Given the description of an element on the screen output the (x, y) to click on. 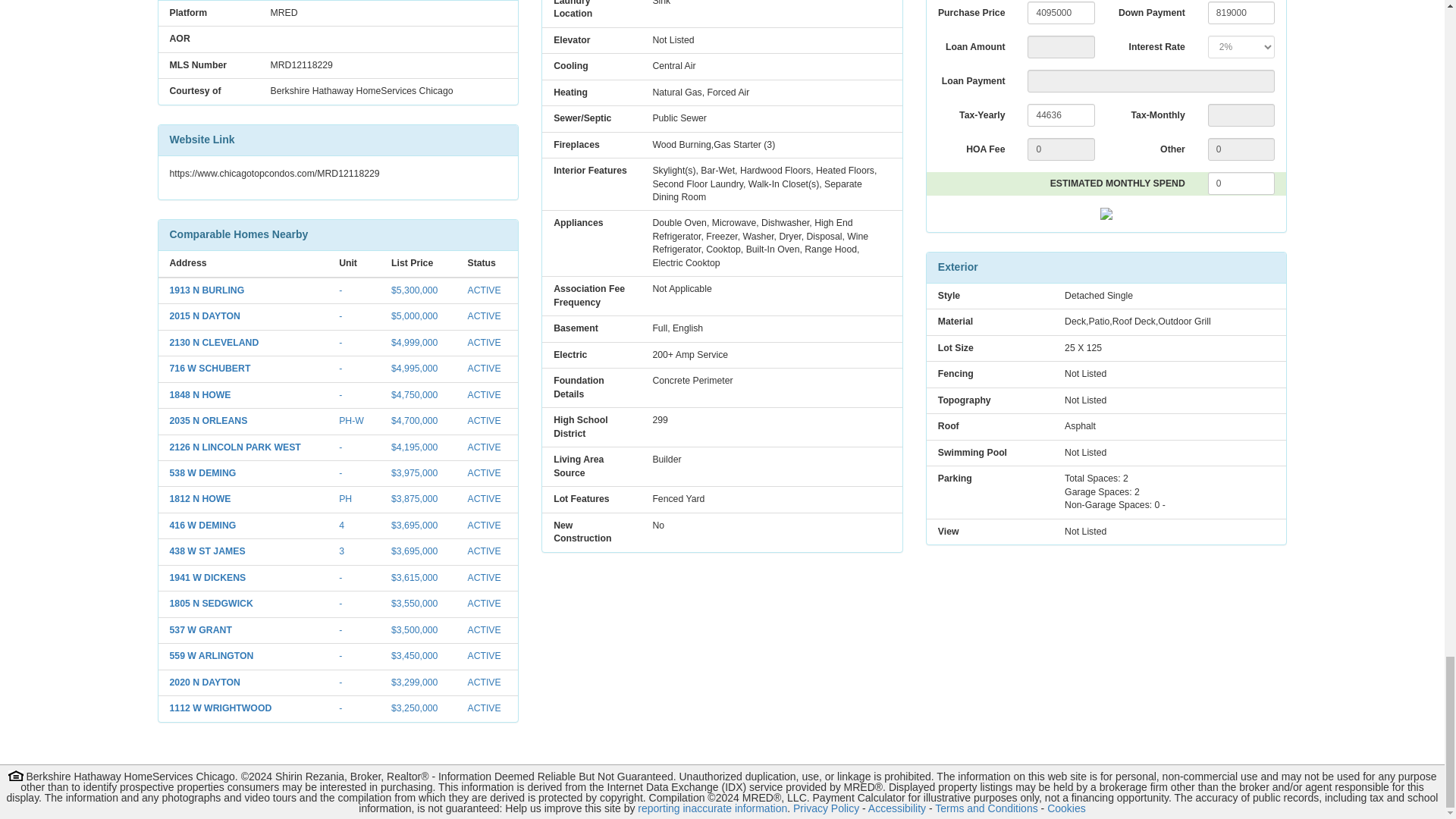
44636 (1060, 115)
819000 (1241, 12)
0 (1241, 182)
0 (1060, 149)
0 (1241, 149)
4095000 (1060, 12)
